Given the description of an element on the screen output the (x, y) to click on. 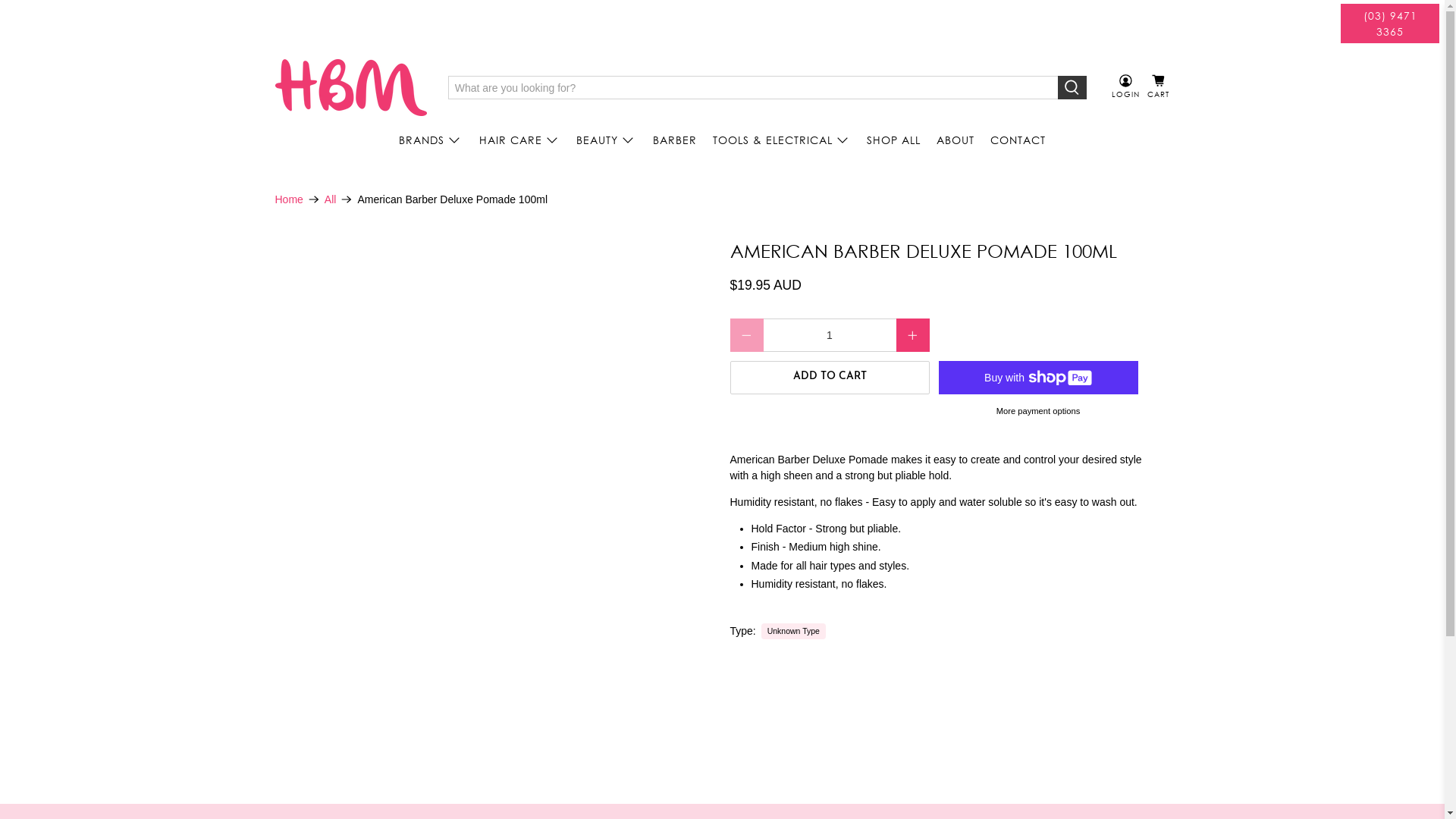
ADD TO CART Element type: text (828, 377)
Hair Beauty Mart Element type: hover (350, 87)
HAIR CARE Element type: text (519, 139)
CART Element type: text (1158, 87)
BRANDS Element type: text (431, 139)
BARBER Element type: text (674, 139)
TOOLS & ELECTRICAL Element type: text (781, 139)
CONTACT Element type: text (1018, 139)
LOGIN Element type: text (1125, 86)
All Element type: text (330, 199)
More payment options Element type: text (1037, 415)
Home Element type: text (288, 199)
SHOP ALL Element type: text (893, 139)
BEAUTY Element type: text (606, 139)
ABOUT Element type: text (955, 139)
(03) 9471 3365 Element type: text (1389, 23)
